Given the description of an element on the screen output the (x, y) to click on. 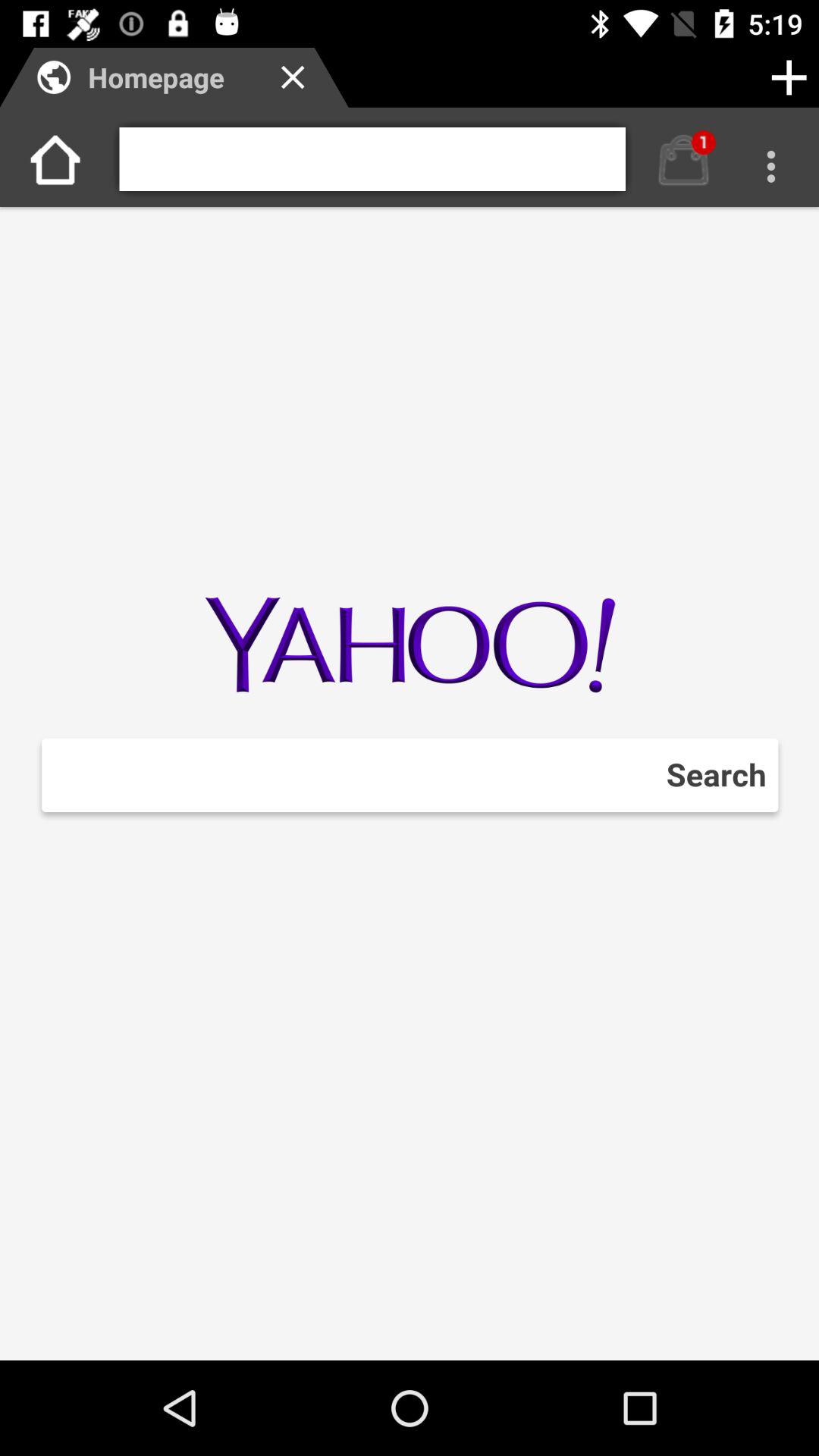
add new tab (789, 77)
